Given the description of an element on the screen output the (x, y) to click on. 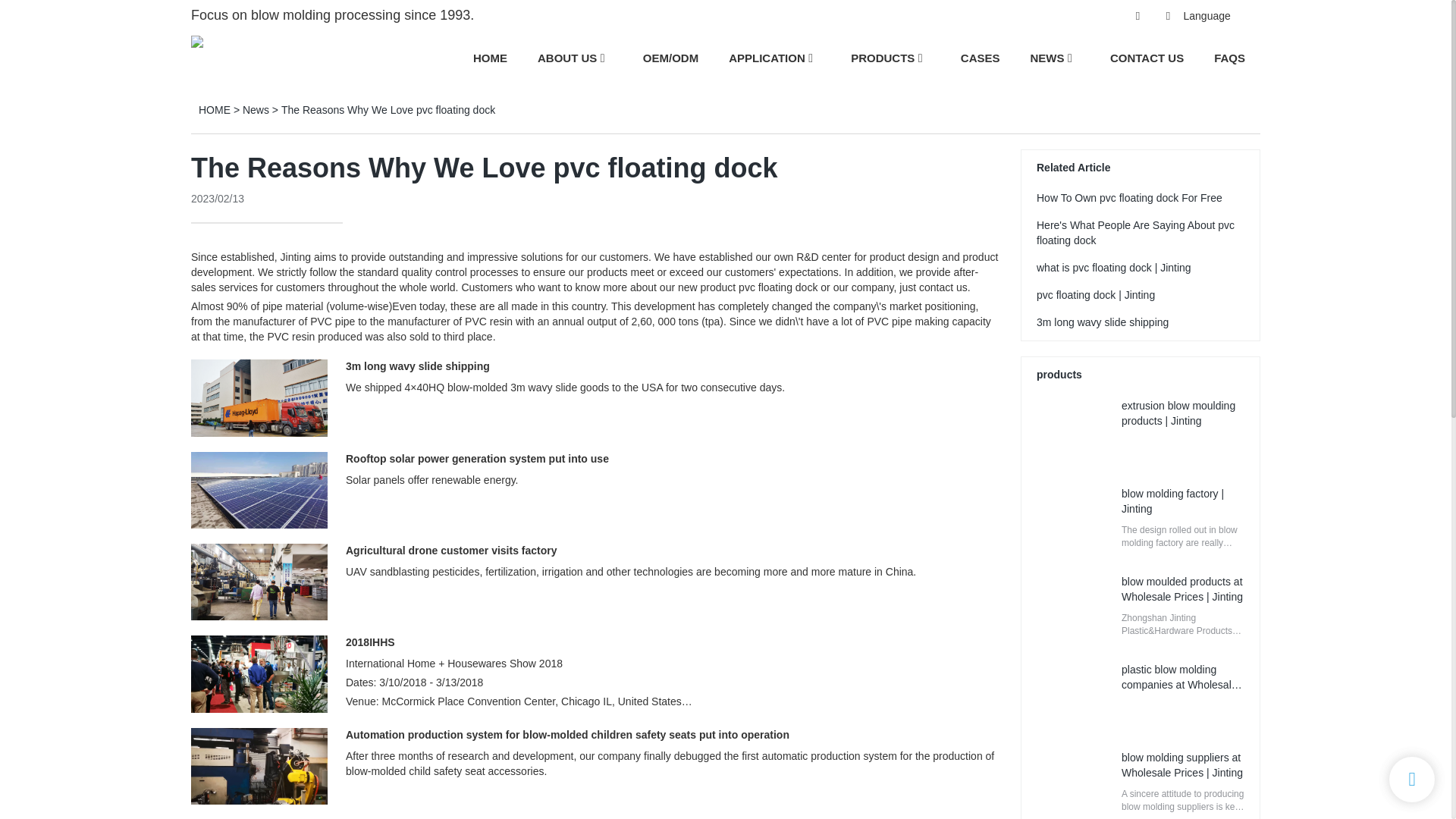
APPLICATION (767, 57)
ABOUT US (566, 57)
3m long wavy slide shipping (417, 366)
PRODUCTS (882, 57)
Rooftop solar power generation system put into use (477, 458)
CONTACT US (1146, 57)
HOME (214, 110)
HOME (489, 57)
News (256, 110)
CASES (980, 57)
Agricultural drone customer visits factory (451, 550)
FAQS (1229, 57)
NEWS (1046, 57)
The Reasons Why We Love pvc floating dock (388, 110)
